Given the description of an element on the screen output the (x, y) to click on. 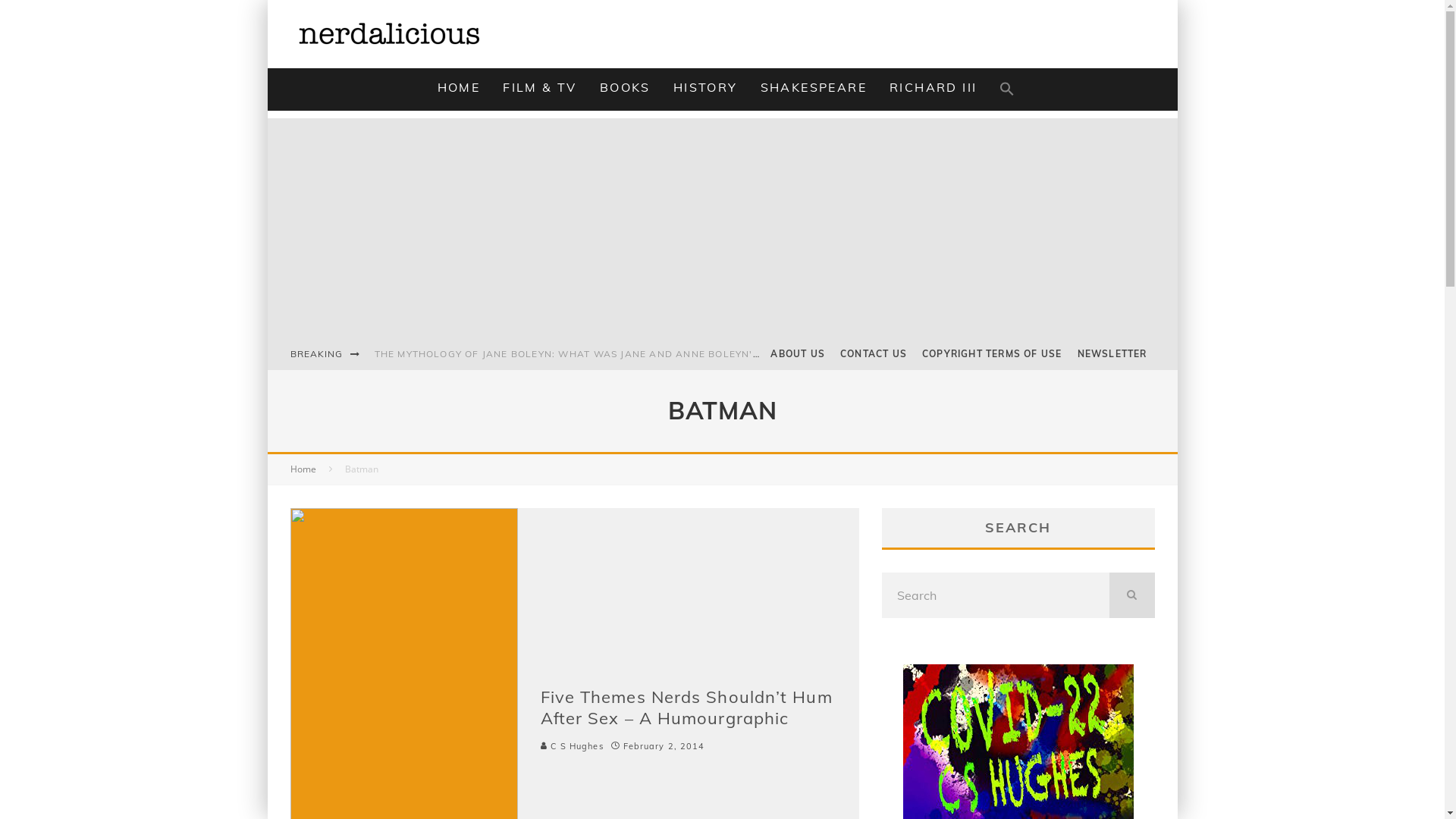
BOOKS Element type: text (625, 87)
NEWSLETTER Element type: text (1111, 354)
Home Element type: text (302, 468)
COPYRIGHT TERMS OF USE Element type: text (991, 354)
HISTORY Element type: text (705, 87)
CONTACT US Element type: text (873, 354)
C S Hughes Element type: text (570, 745)
ABOUT US Element type: text (797, 354)
FILM & TV Element type: text (539, 87)
RICHARD III Element type: text (933, 87)
Advertisement Element type: hover (721, 224)
SHAKESPEARE Element type: text (813, 87)
HOME Element type: text (459, 87)
